Given the description of an element on the screen output the (x, y) to click on. 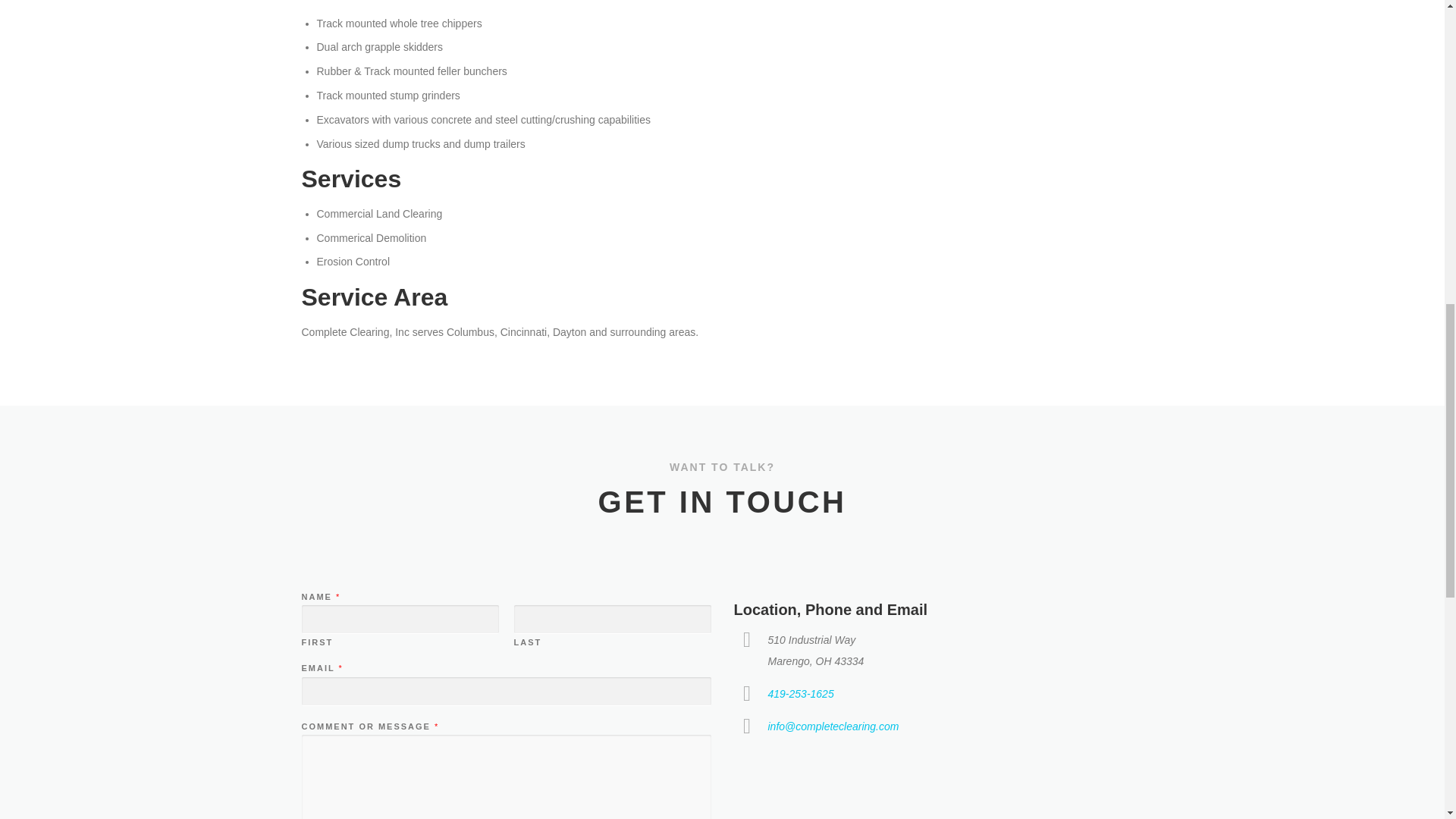
419-253-1625 (799, 693)
